Given the description of an element on the screen output the (x, y) to click on. 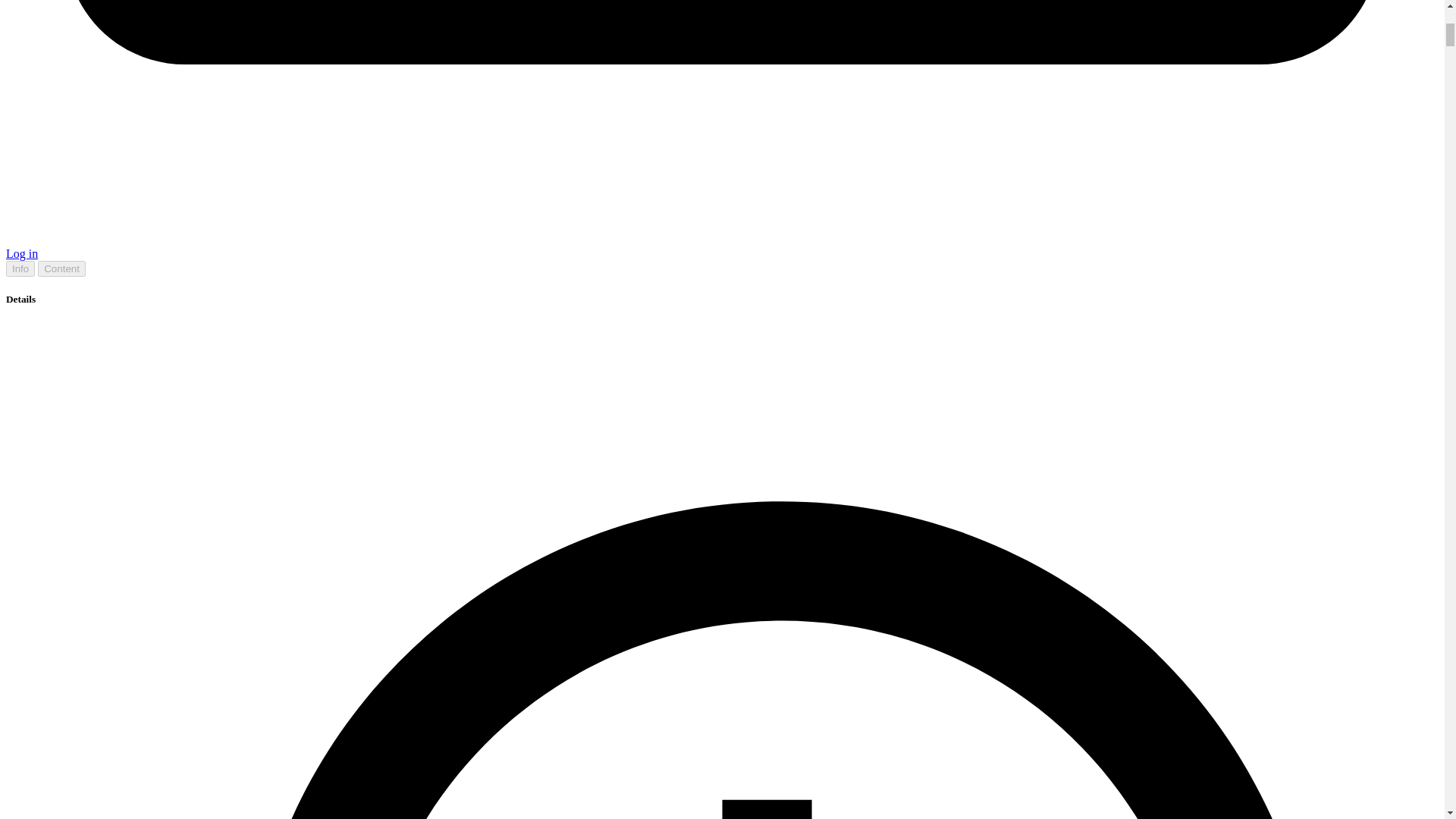
Info (19, 268)
Content (61, 268)
